Given the description of an element on the screen output the (x, y) to click on. 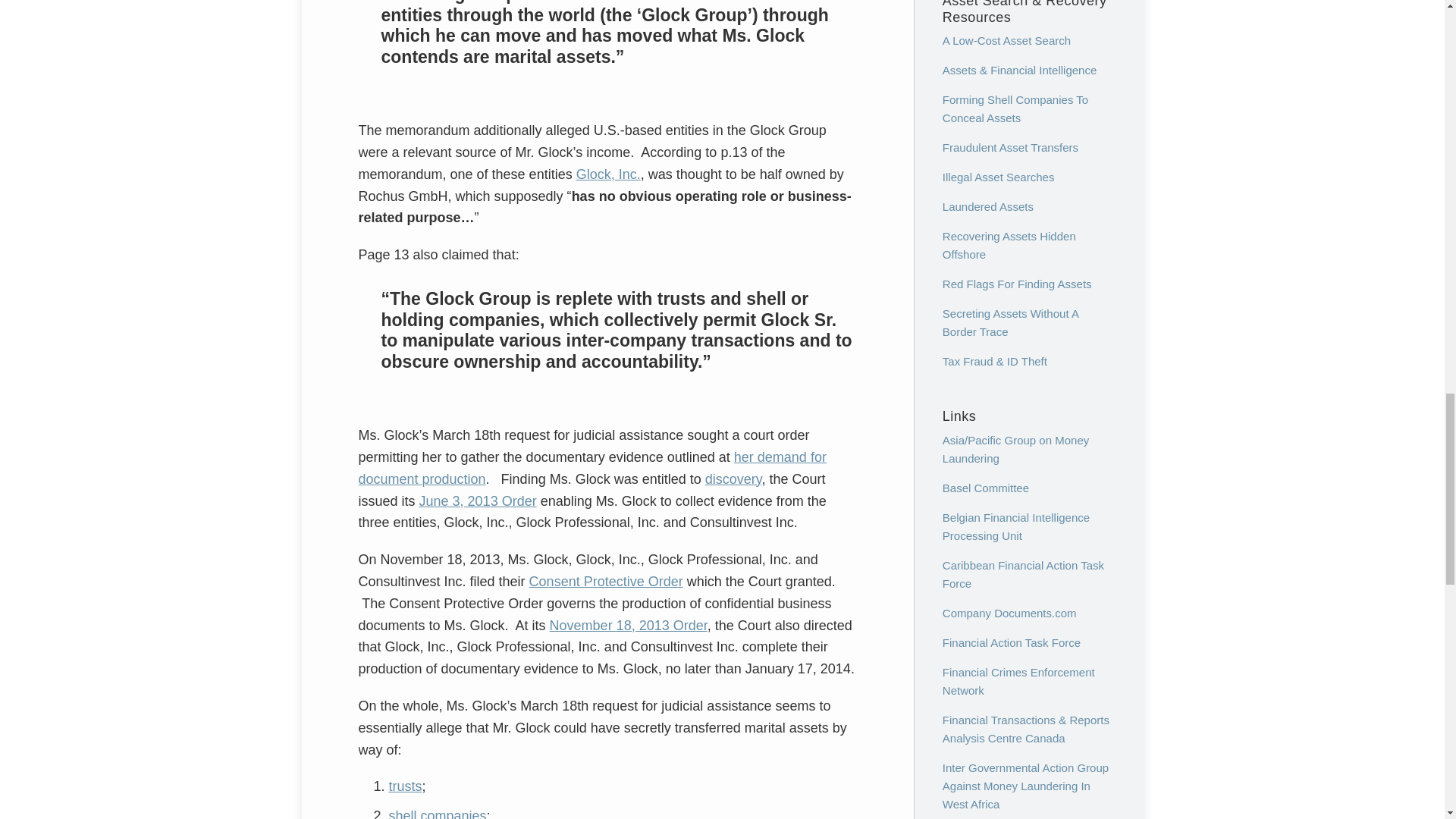
Glock, Inc. (608, 174)
June 3, 2013 Order (478, 500)
her demand for document production (591, 467)
trusts (405, 785)
Consent Protective Order (605, 581)
shell companies (437, 813)
discovery (732, 478)
November 18, 2013 Order (628, 625)
